Given the description of an element on the screen output the (x, y) to click on. 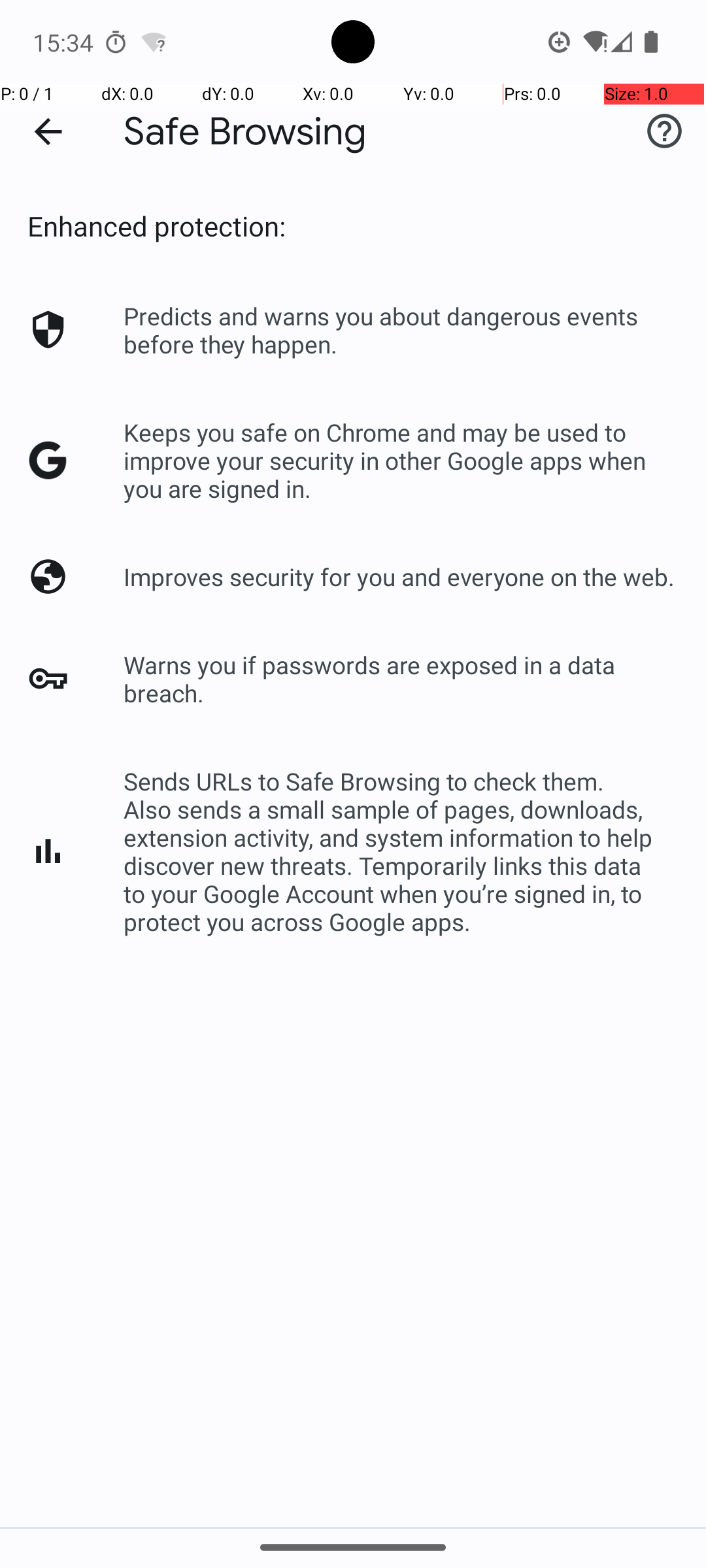
Safe Browsing Element type: android.widget.TextView (244, 131)
Enhanced protection: Element type: android.widget.TextView (156, 225)
Predicts and warns you about dangerous events before they happen. Element type: android.widget.TextView (400, 329)
Keeps you safe on Chrome and may be used to improve your security in other Google apps when you are signed in. Element type: android.widget.TextView (400, 460)
Improves security for you and everyone on the web. Element type: android.widget.TextView (399, 576)
Warns you if passwords are exposed in a data breach. Element type: android.widget.TextView (400, 678)
Sends URLs to Safe Browsing to check them. Also sends a small sample of pages, downloads, extension activity, and system information to help discover new threats. Temporarily links this data to your Google Account when you’re signed in, to protect you across Google apps. Element type: android.widget.TextView (400, 851)
